Given the description of an element on the screen output the (x, y) to click on. 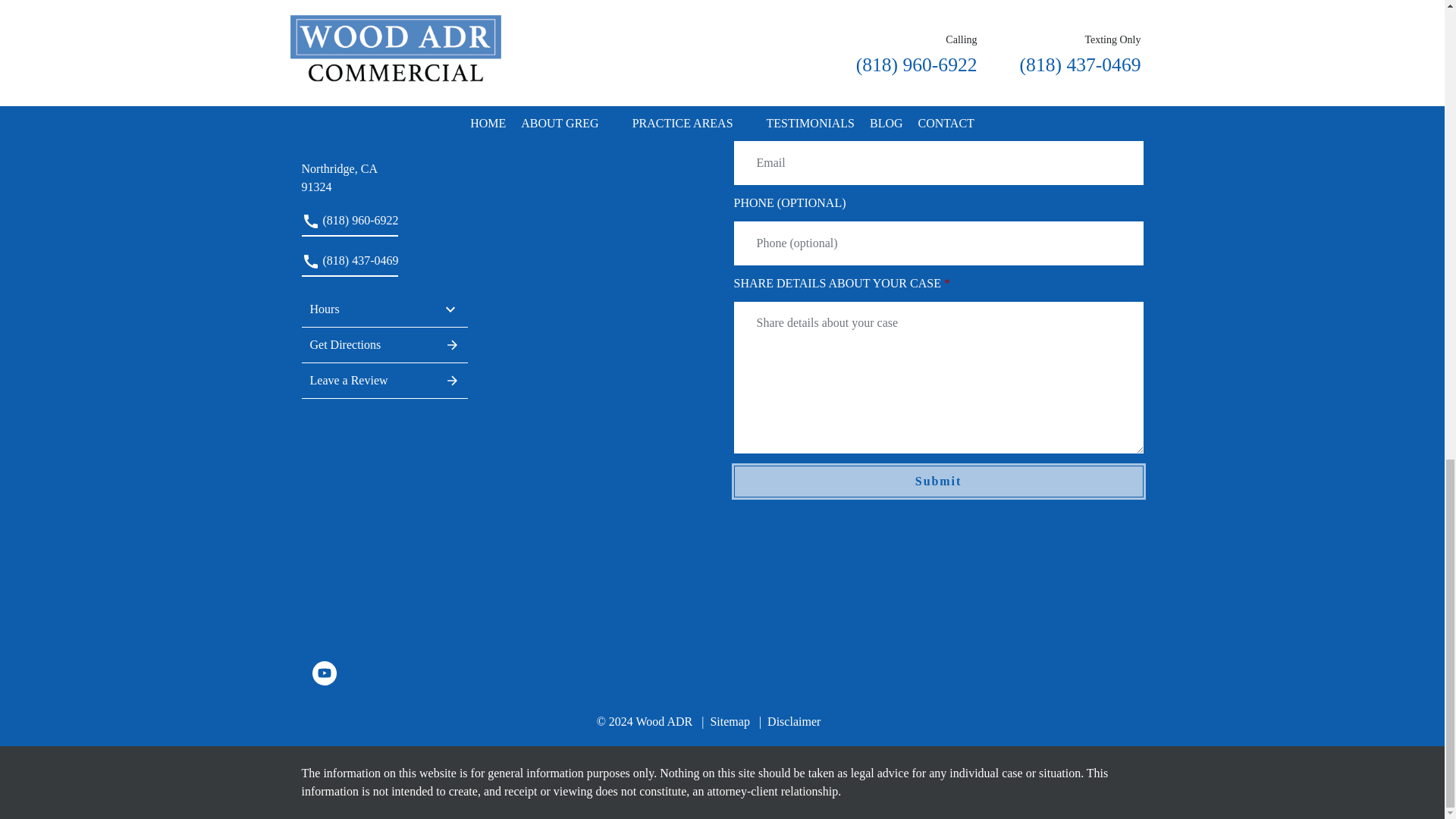
Hours (384, 308)
Get Directions (384, 344)
Submit (937, 481)
Leave a Review (384, 168)
